Given the description of an element on the screen output the (x, y) to click on. 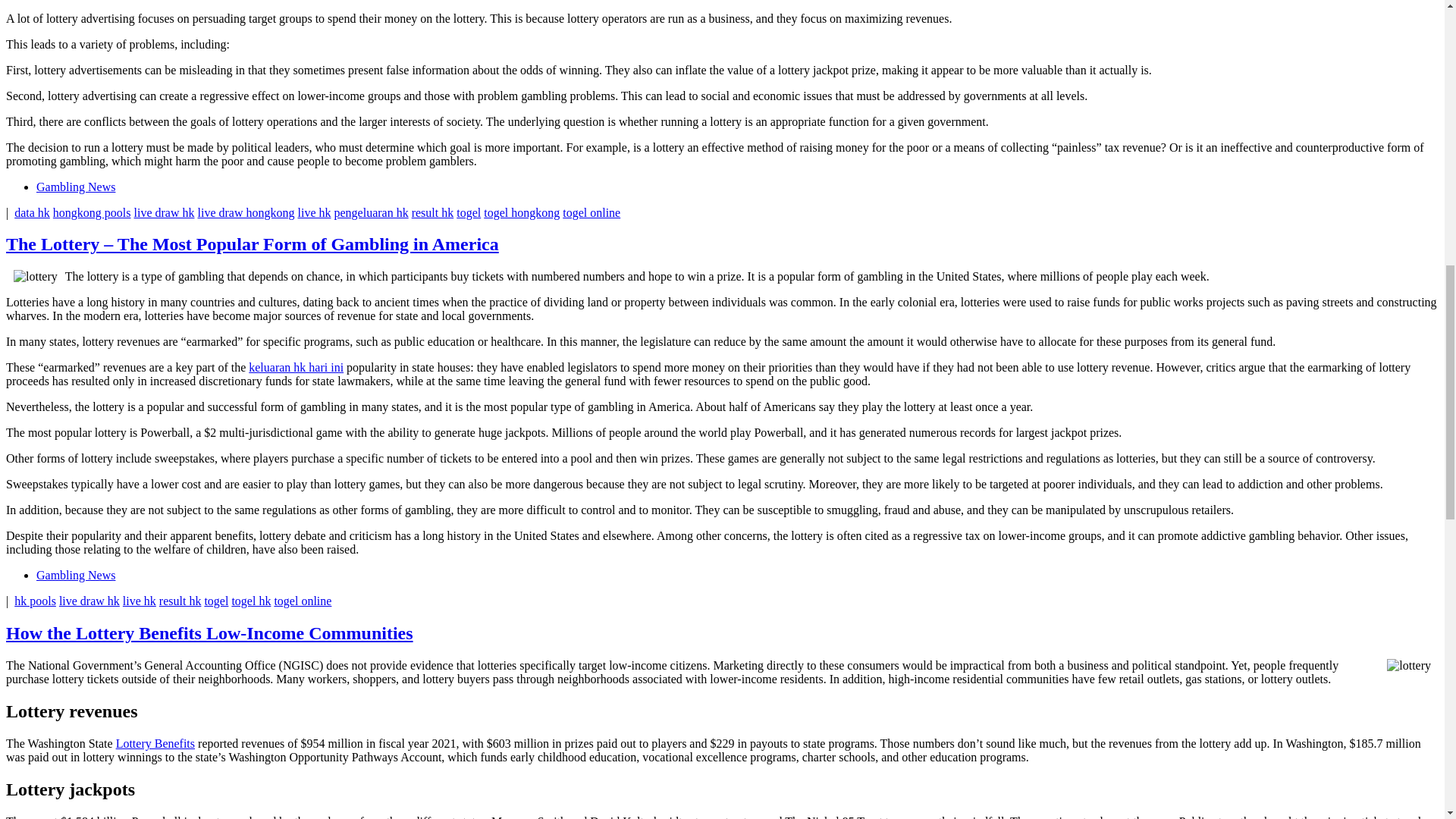
hongkong pools (91, 212)
How the Lottery Benefits Low-Income Communities (209, 632)
togel (215, 600)
live draw hk (89, 600)
togel (468, 212)
pengeluaran hk (370, 212)
Gambling News (75, 186)
live hk (313, 212)
Lottery Benefits (155, 743)
togel hongkong (521, 212)
togel online (591, 212)
result hk (180, 600)
togel hk (250, 600)
keluaran hk hari ini (295, 367)
live hk (138, 600)
